Given the description of an element on the screen output the (x, y) to click on. 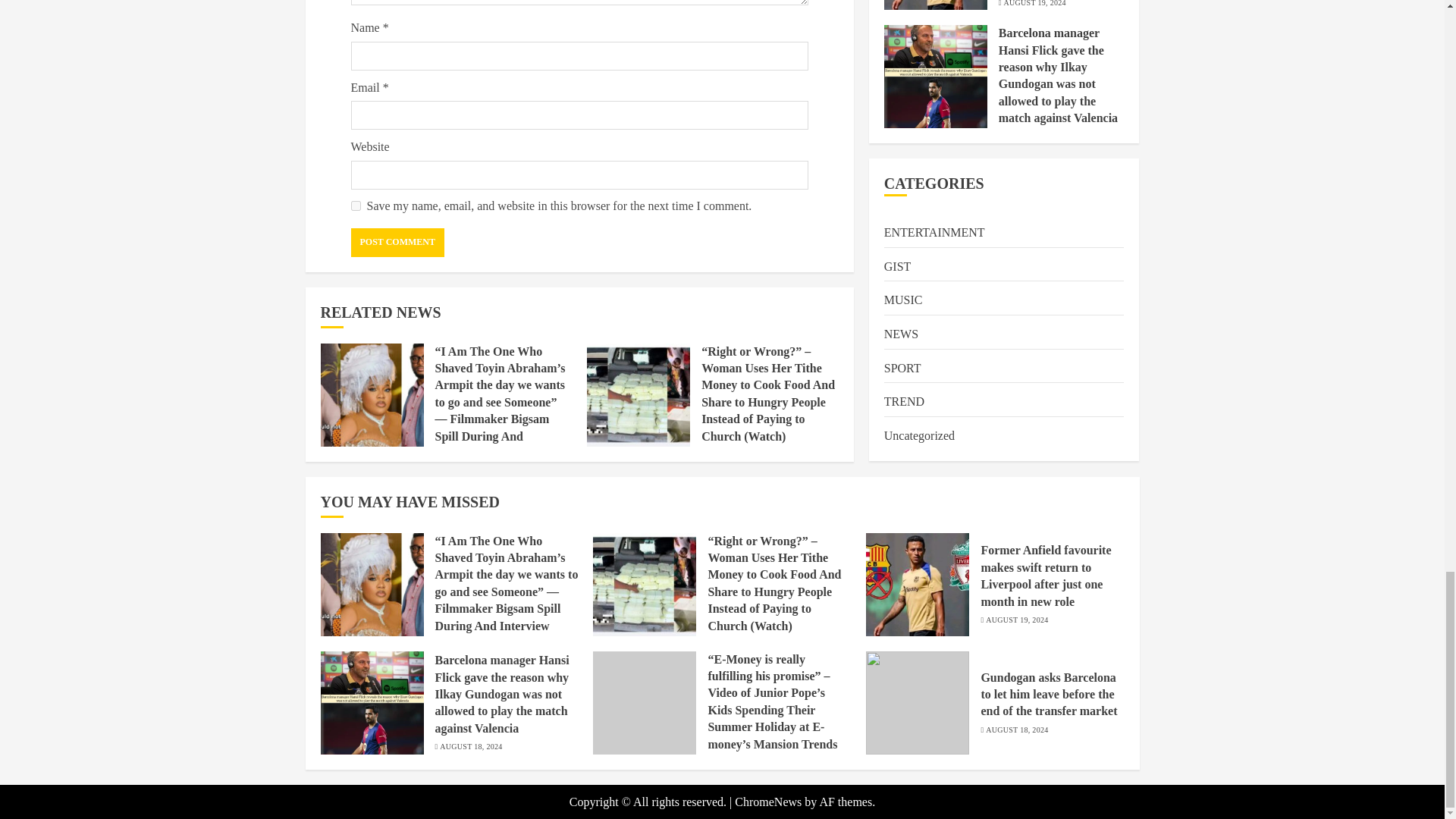
yes (354, 205)
Post Comment (397, 242)
Post Comment (397, 242)
